Given the description of an element on the screen output the (x, y) to click on. 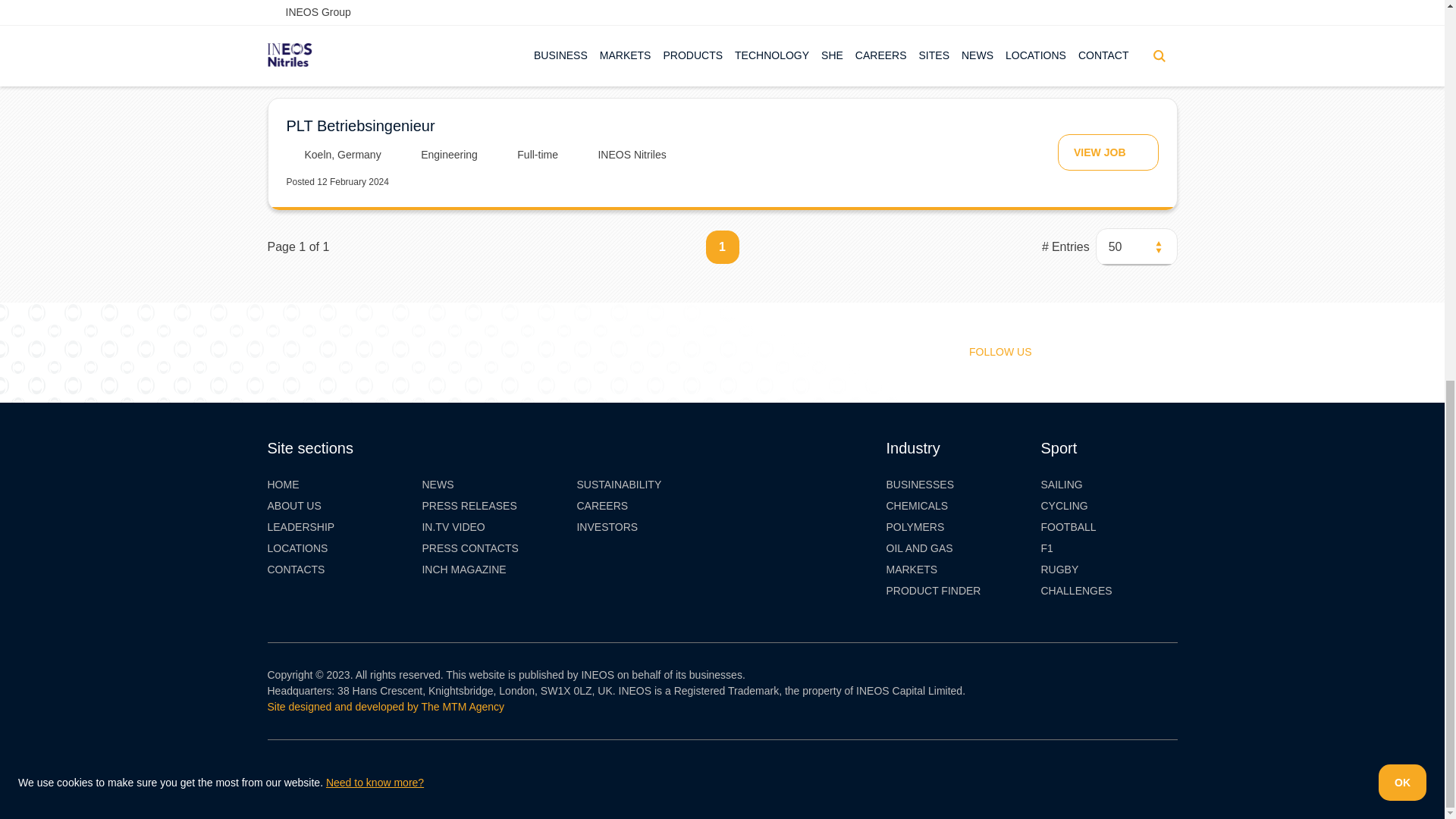
VIEW JOB (1107, 152)
Site designed and developed by The MTM Agency (384, 706)
Financial Specialist (351, 2)
PLT Betriebsingenieur (360, 126)
1 (721, 246)
VIEW JOB (1107, 22)
